Given the description of an element on the screen output the (x, y) to click on. 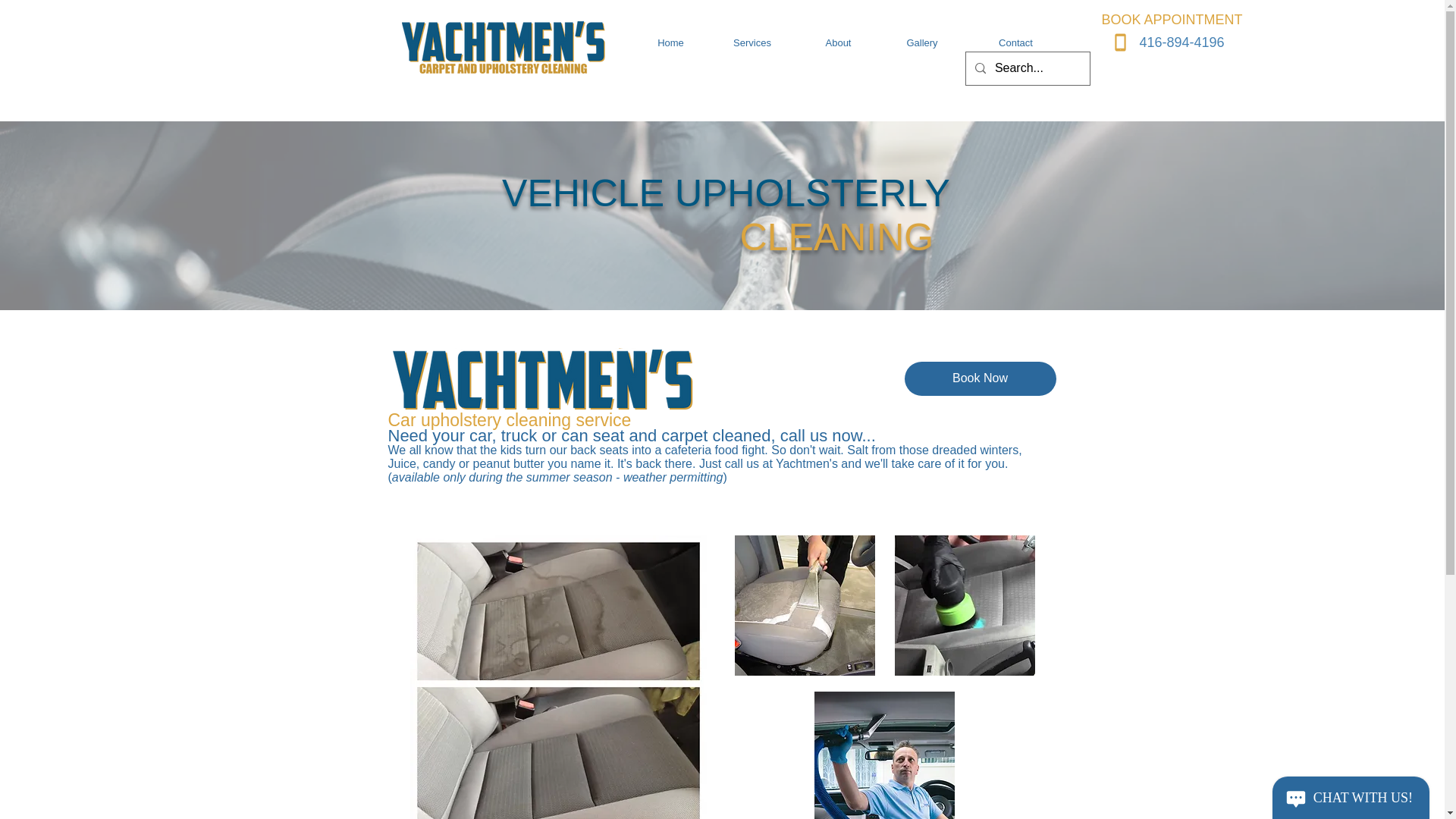
Gallery (922, 42)
Services (751, 42)
About (838, 42)
Home (670, 42)
416-894-4196 (1181, 42)
Book Now (979, 378)
Contact (1015, 42)
BOOK APPOINTMENT (1170, 19)
